Given the description of an element on the screen output the (x, y) to click on. 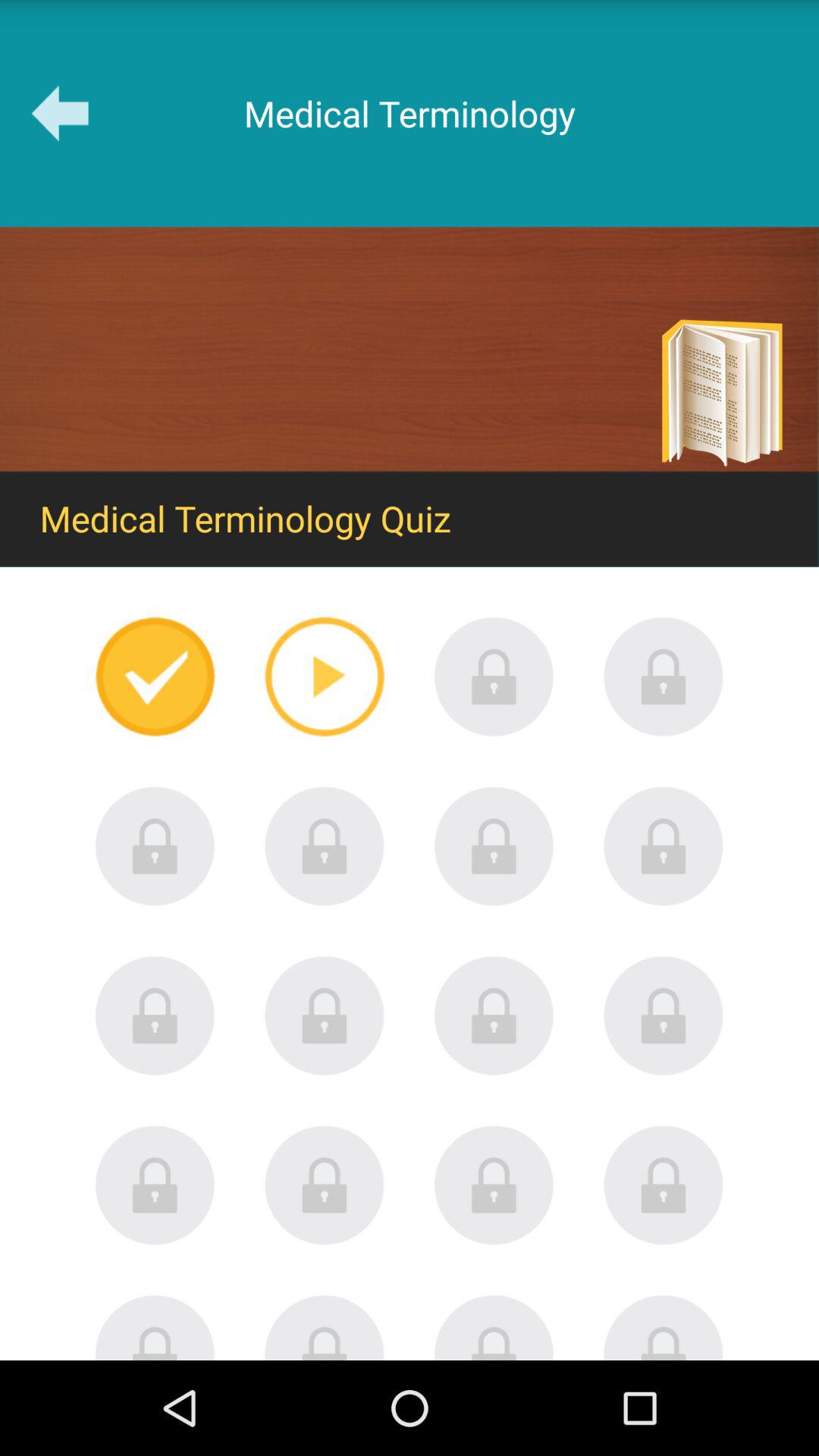
locked key (493, 1184)
